Given the description of an element on the screen output the (x, y) to click on. 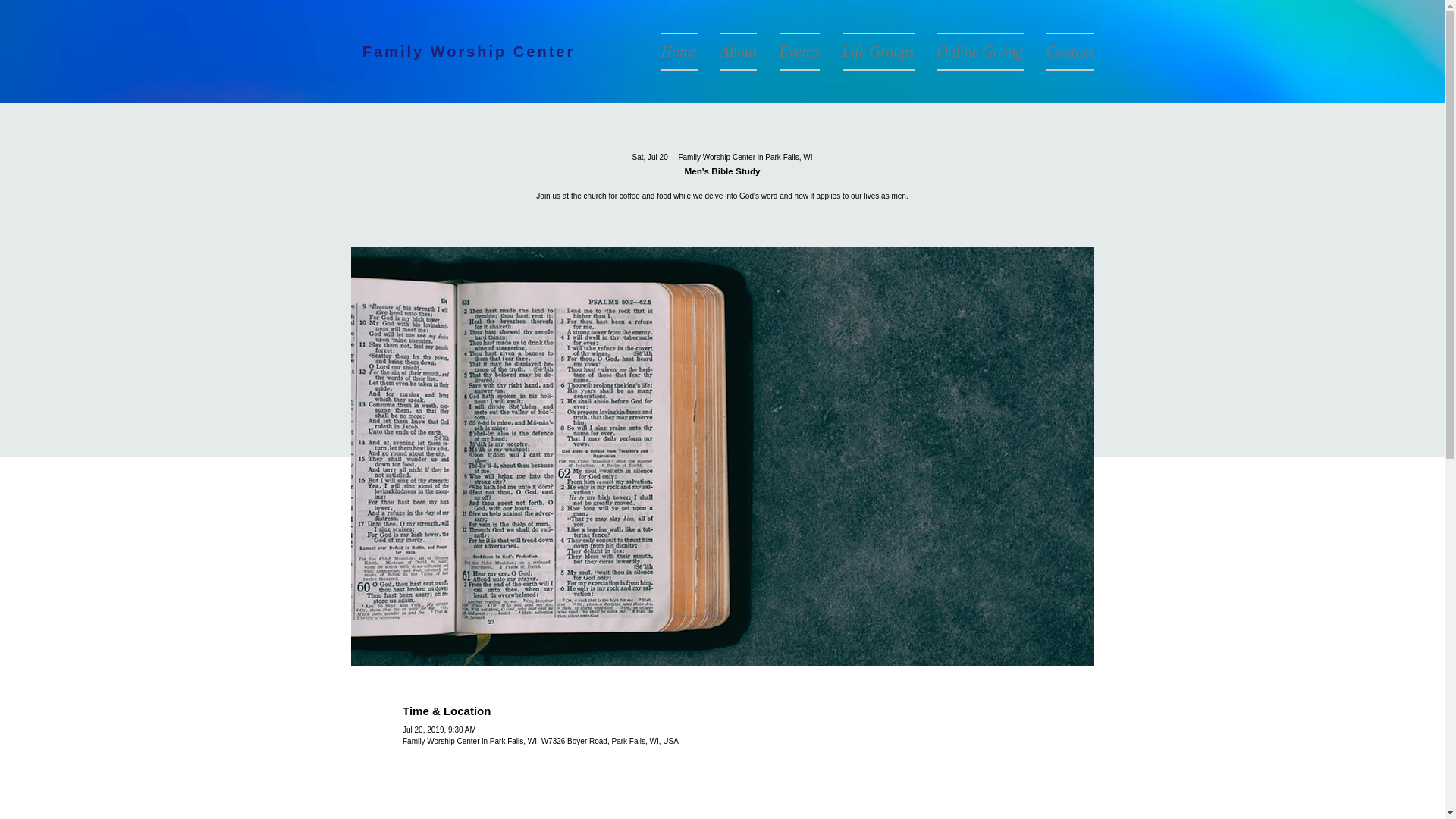
Map (721, 798)
Life Groups (878, 51)
Events (798, 51)
Family Worship Center (468, 51)
Home (678, 51)
Contact (1063, 51)
About (737, 51)
Online Giving (978, 51)
